Given the description of an element on the screen output the (x, y) to click on. 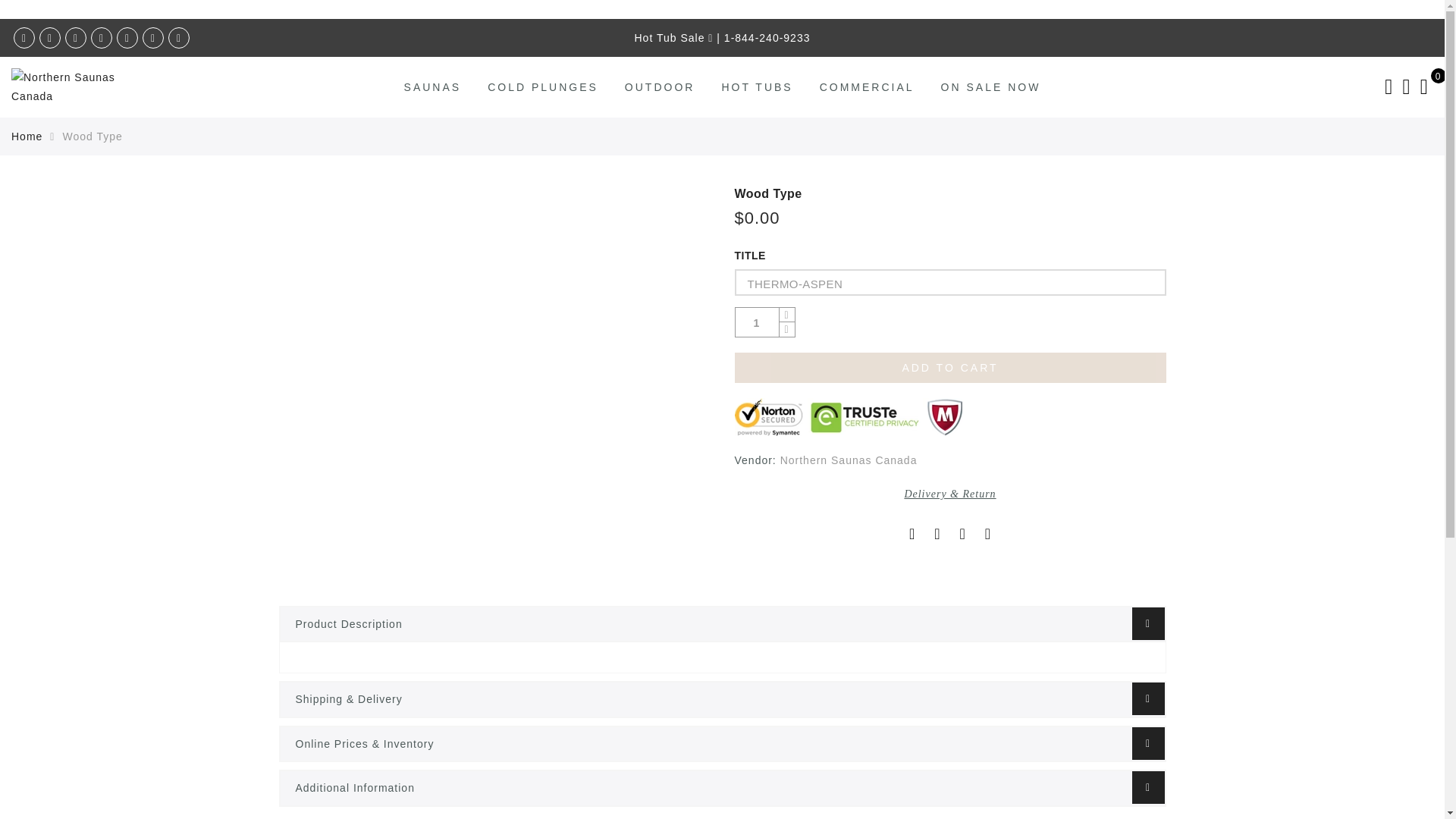
1 (756, 322)
Qty (756, 322)
Northern Saunas Canada (848, 460)
